Given the description of an element on the screen output the (x, y) to click on. 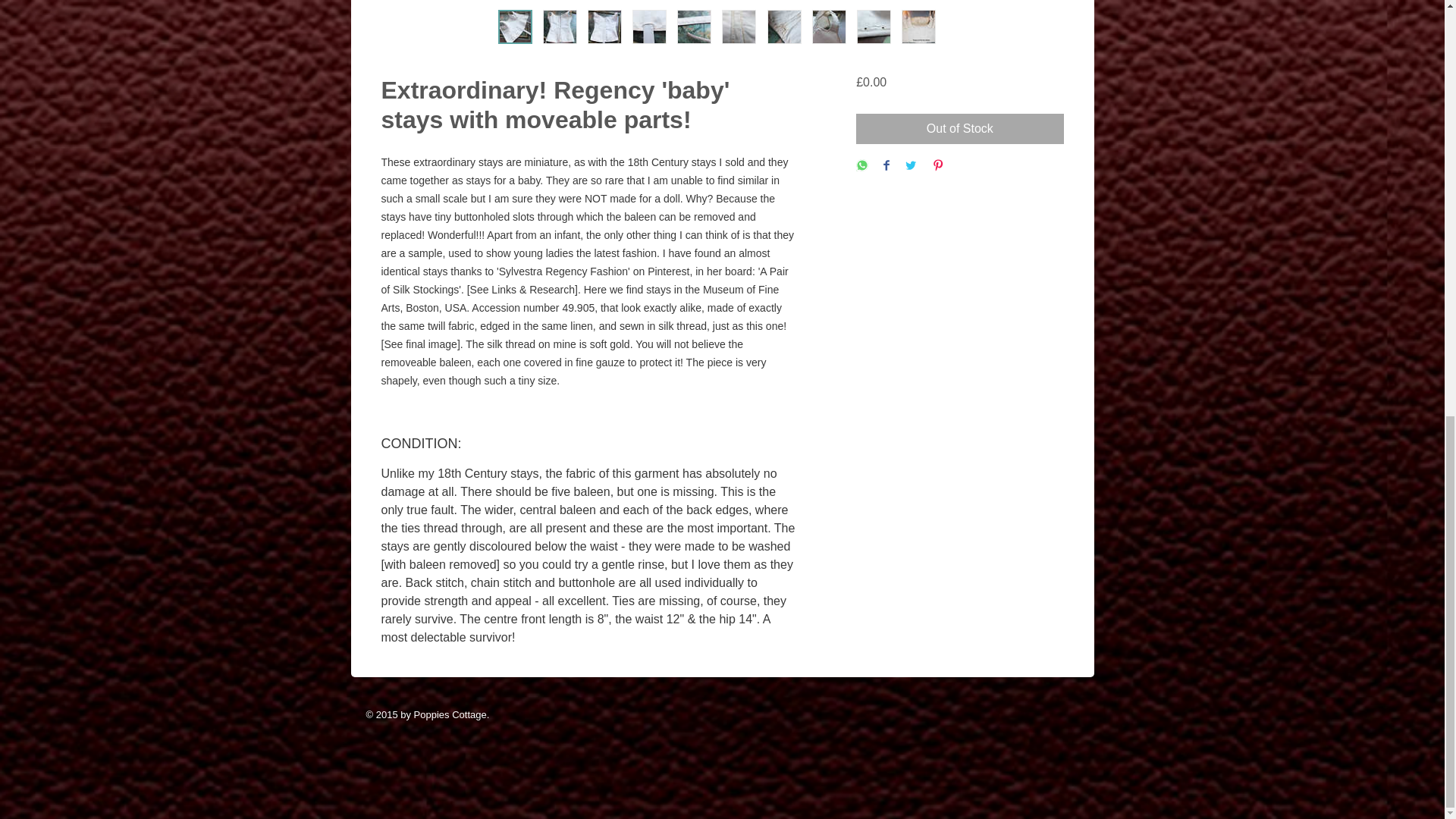
Out of Stock (959, 128)
